Given the description of an element on the screen output the (x, y) to click on. 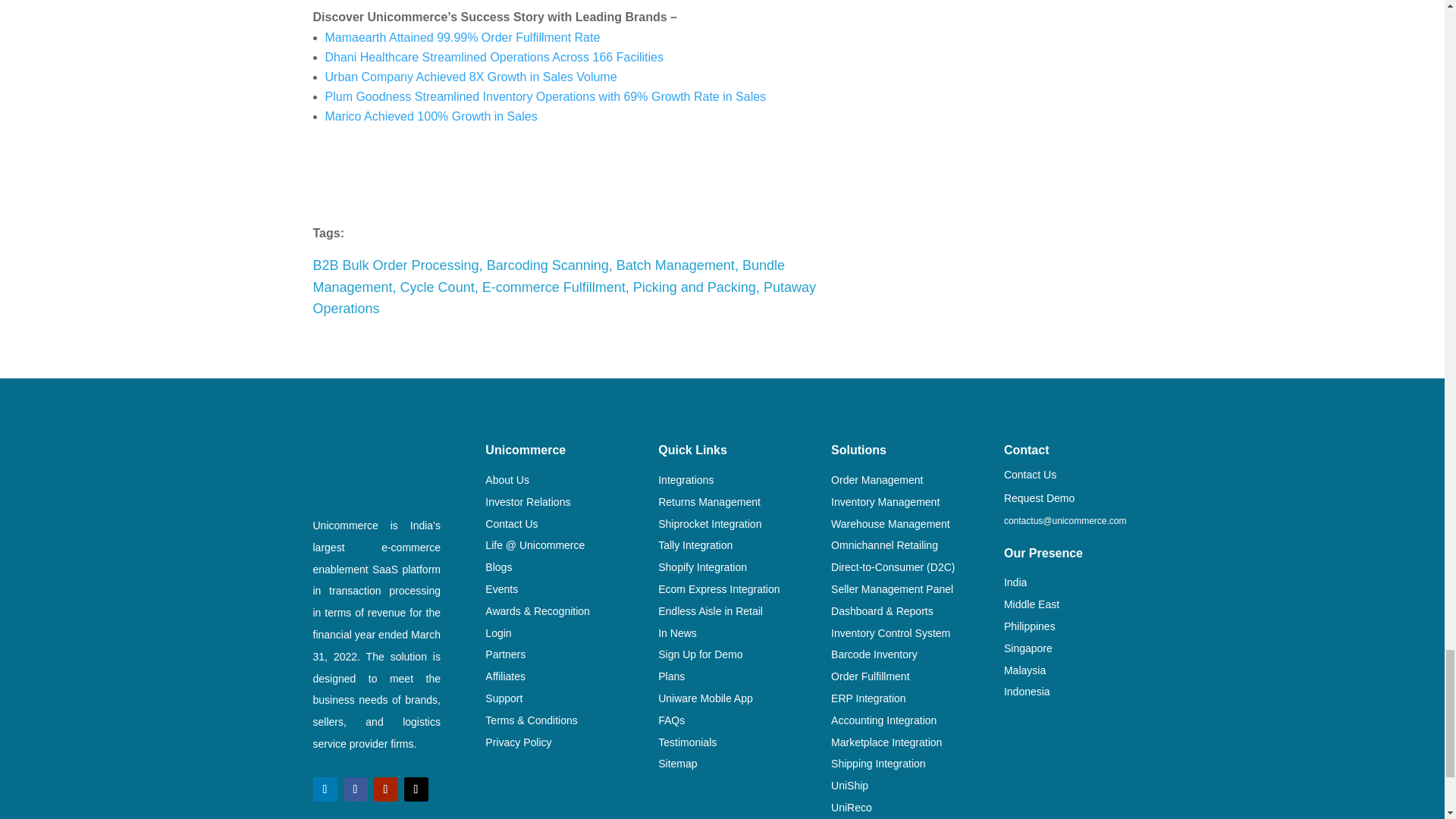
Follow on LinkedIn (324, 789)
Follow on Facebook (354, 789)
Follow on Twitter (415, 789)
Follow on Youtube (384, 789)
